Given the description of an element on the screen output the (x, y) to click on. 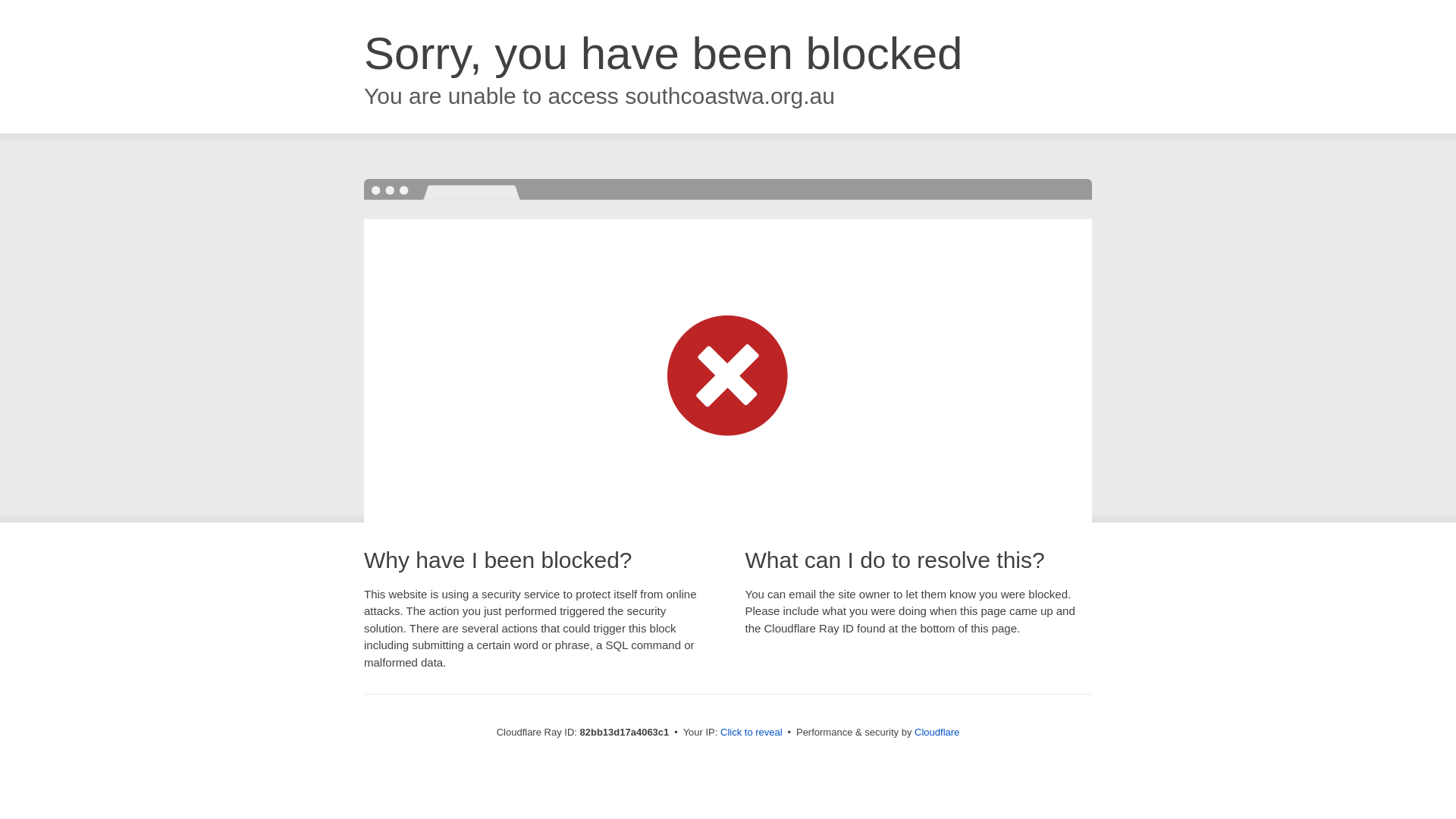
Cloudflare Element type: text (936, 731)
Click to reveal Element type: text (751, 732)
